Given the description of an element on the screen output the (x, y) to click on. 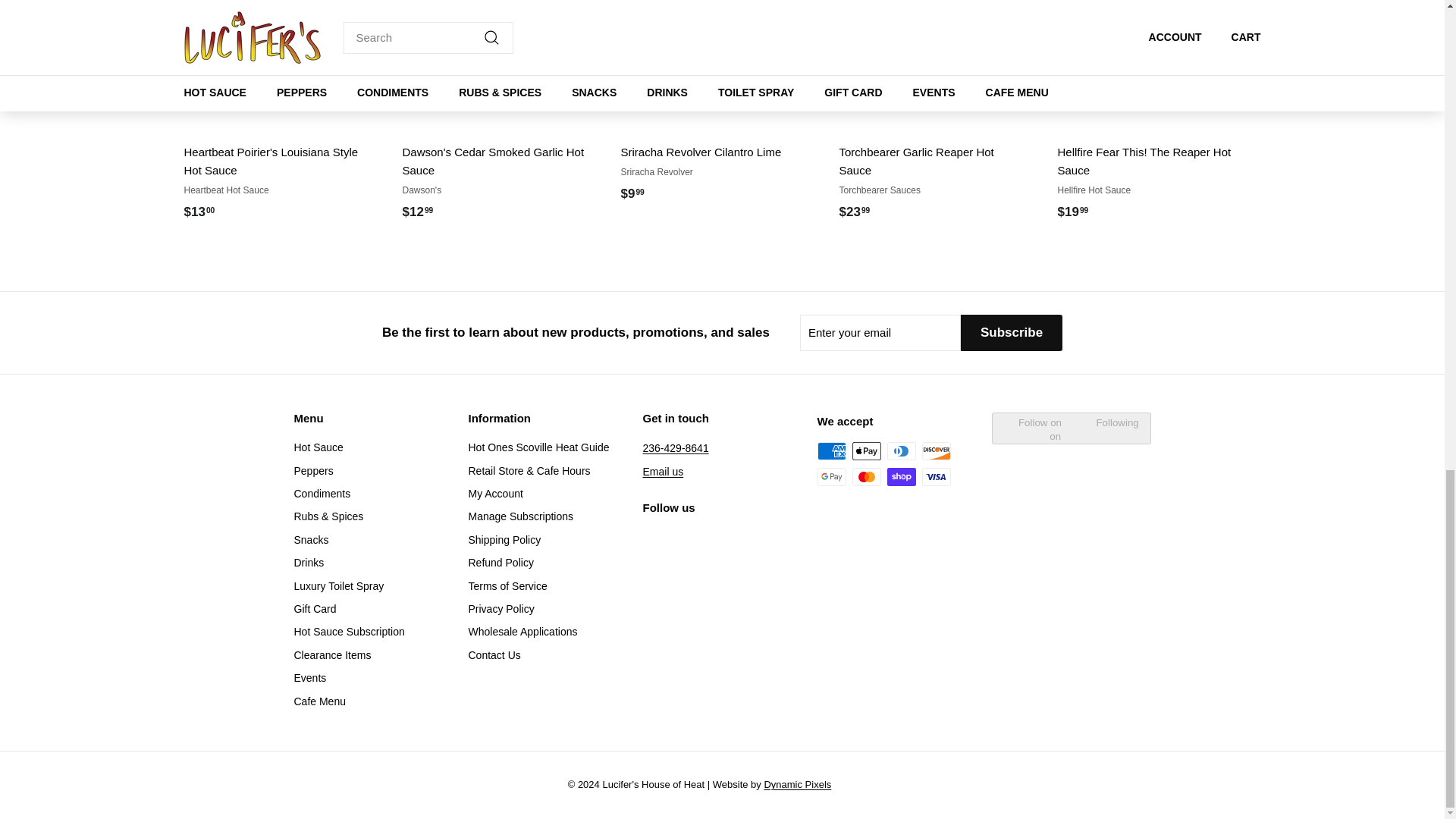
Discover (935, 451)
Visa (935, 476)
Mastercard (865, 476)
Diners Club (900, 451)
Google Pay (830, 476)
Shop Pay (900, 476)
Apple Pay (865, 451)
American Express (830, 451)
